Given the description of an element on the screen output the (x, y) to click on. 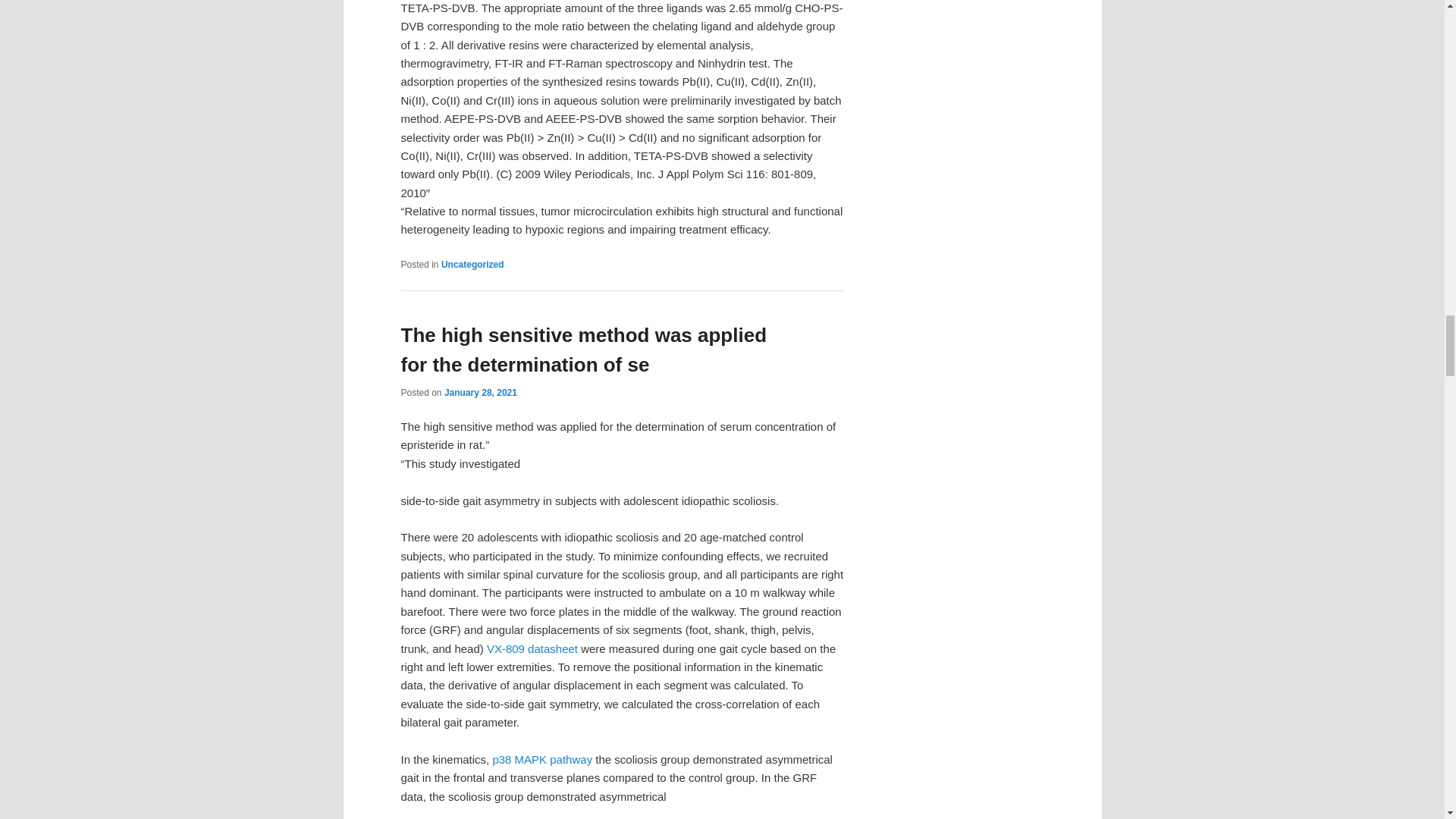
Uncategorized (472, 264)
